Given the description of an element on the screen output the (x, y) to click on. 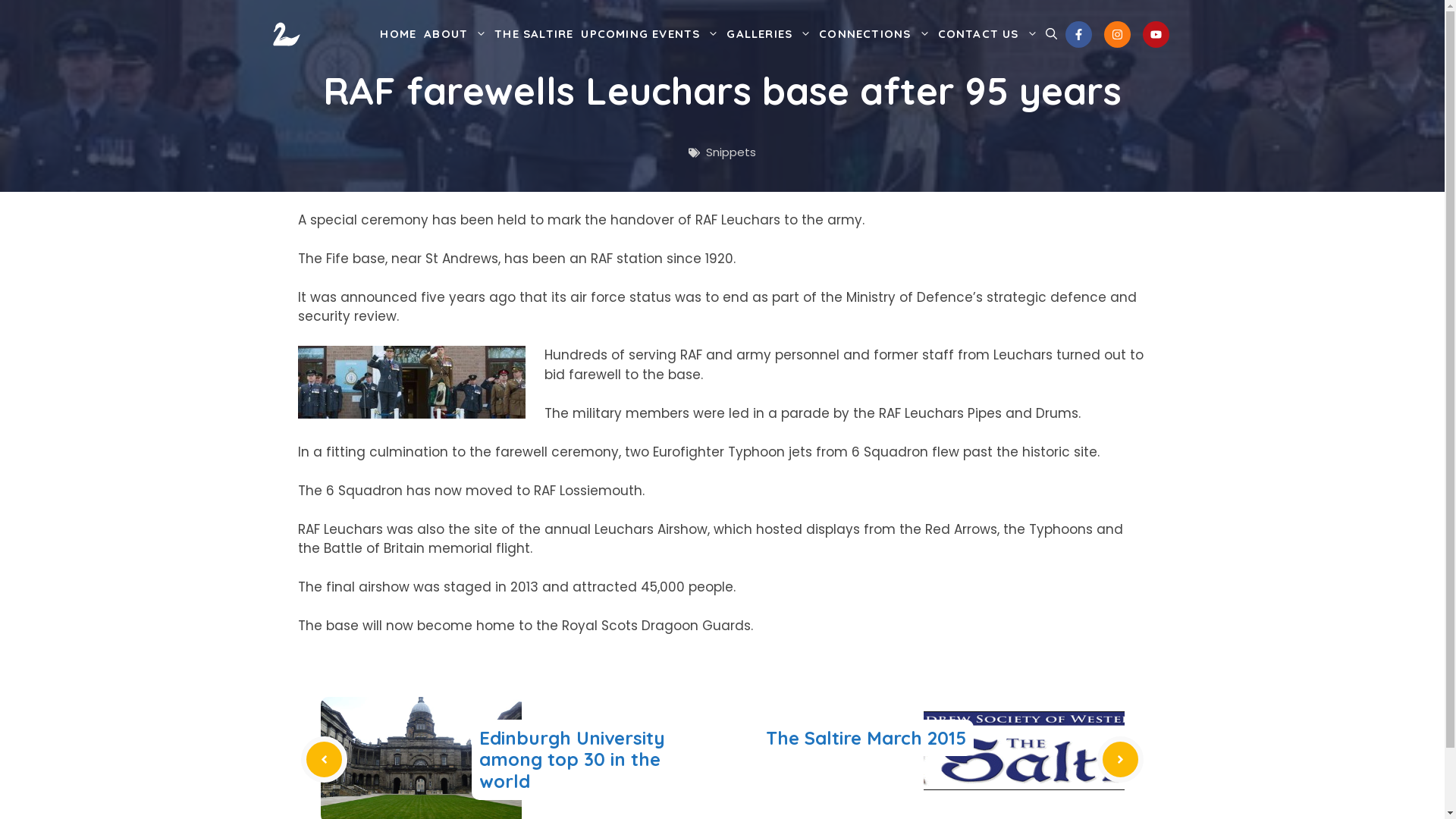
Edinburgh University among top 30 in the world Element type: text (572, 759)
Snippets Element type: text (731, 152)
GALLERIES Element type: text (768, 34)
The Saltire March 2015 Element type: text (865, 737)
UPCOMING EVENTS Element type: text (649, 34)
CONNECTIONS Element type: text (874, 34)
HOME Element type: text (398, 34)
CONTACT US Element type: text (987, 34)
THE SALTIRE Element type: text (533, 34)
ABOUT Element type: text (455, 34)
